Given the description of an element on the screen output the (x, y) to click on. 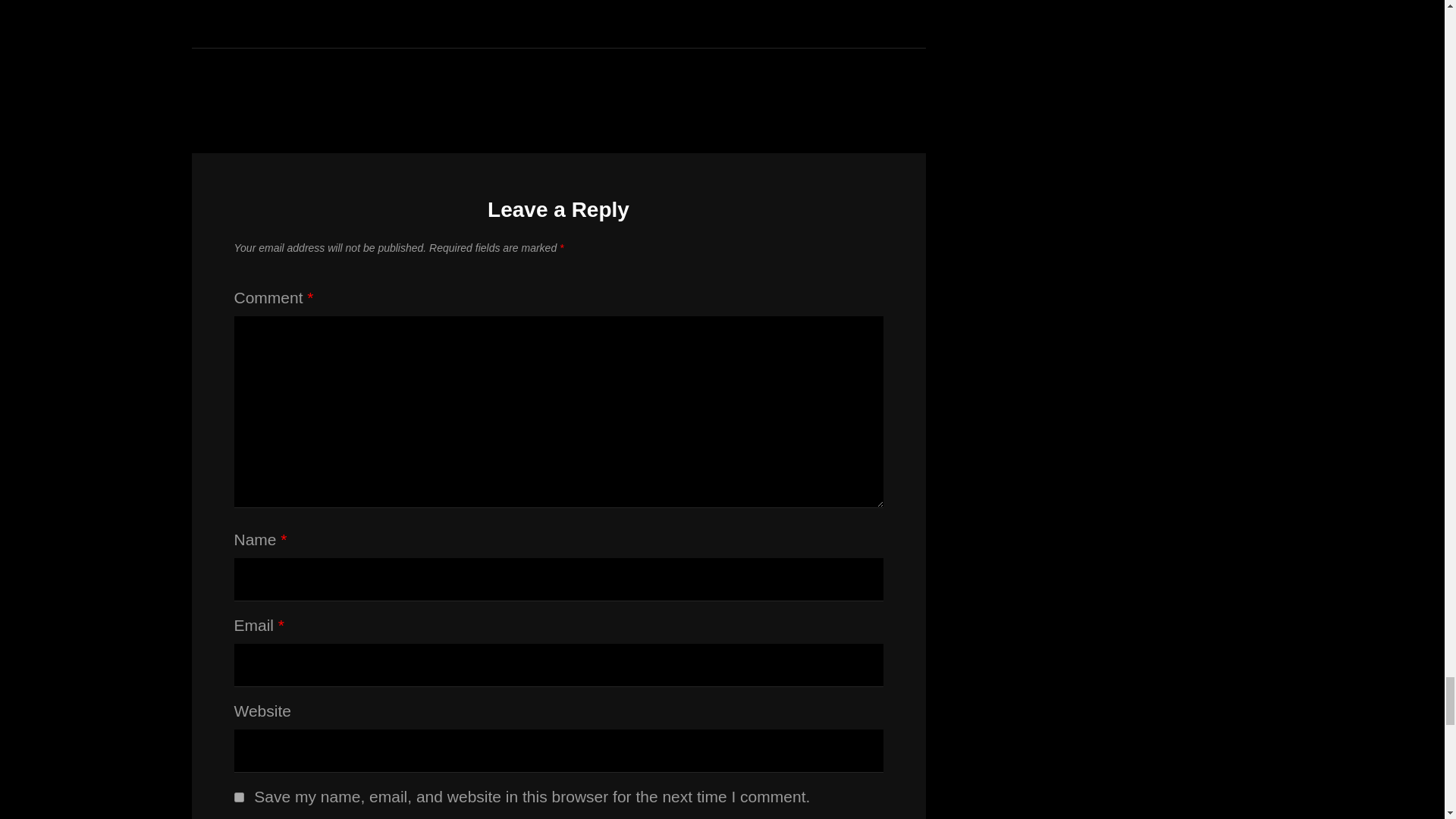
yes (237, 797)
